Given the description of an element on the screen output the (x, y) to click on. 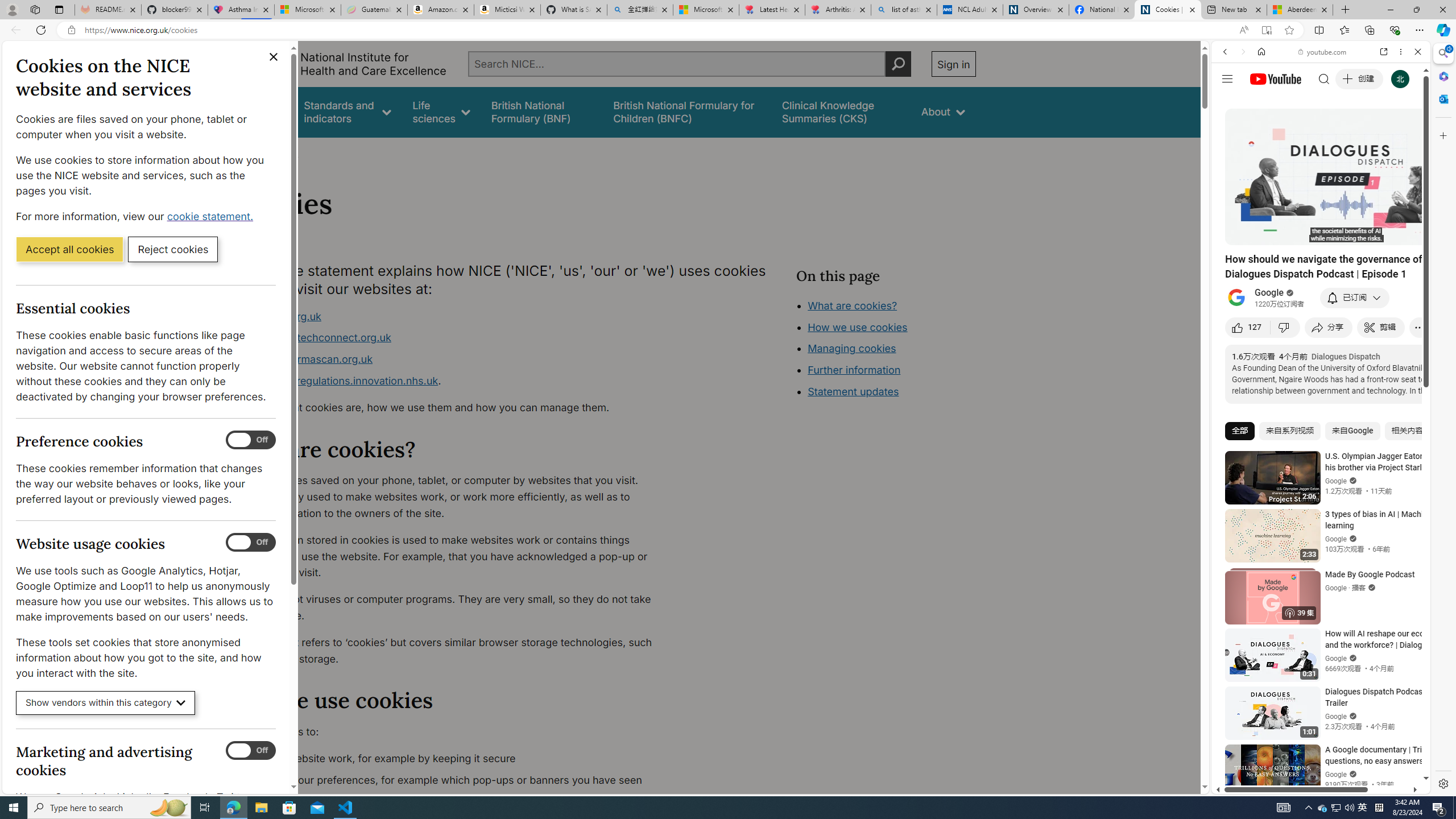
Marketing and advertising cookies (250, 750)
What are cookies? (852, 305)
Home> (246, 152)
Statement updates (853, 391)
Accept all cookies (69, 248)
YouTube - YouTube (1315, 560)
